Given the description of an element on the screen output the (x, y) to click on. 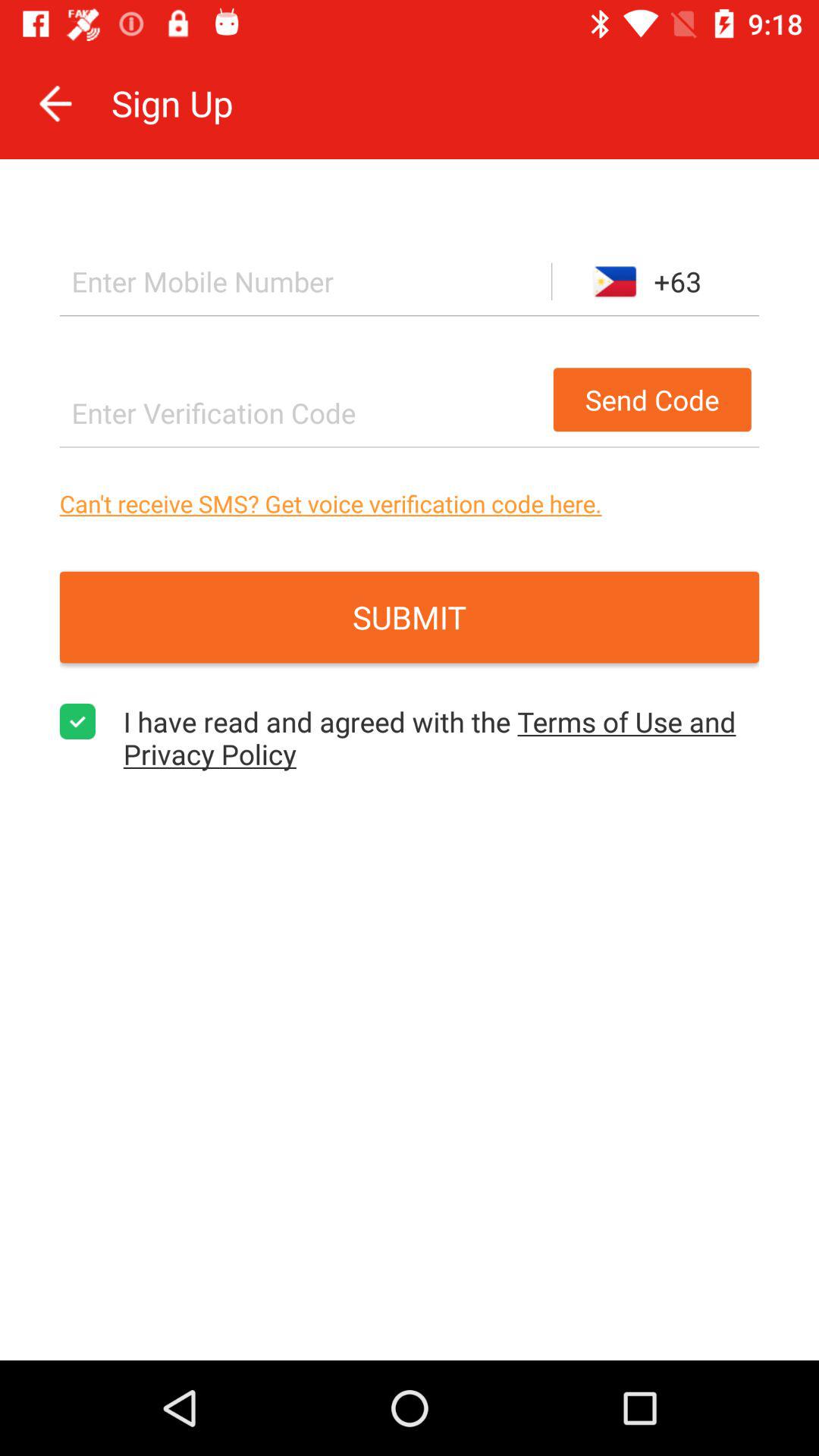
tap the item above can t receive icon (302, 412)
